Given the description of an element on the screen output the (x, y) to click on. 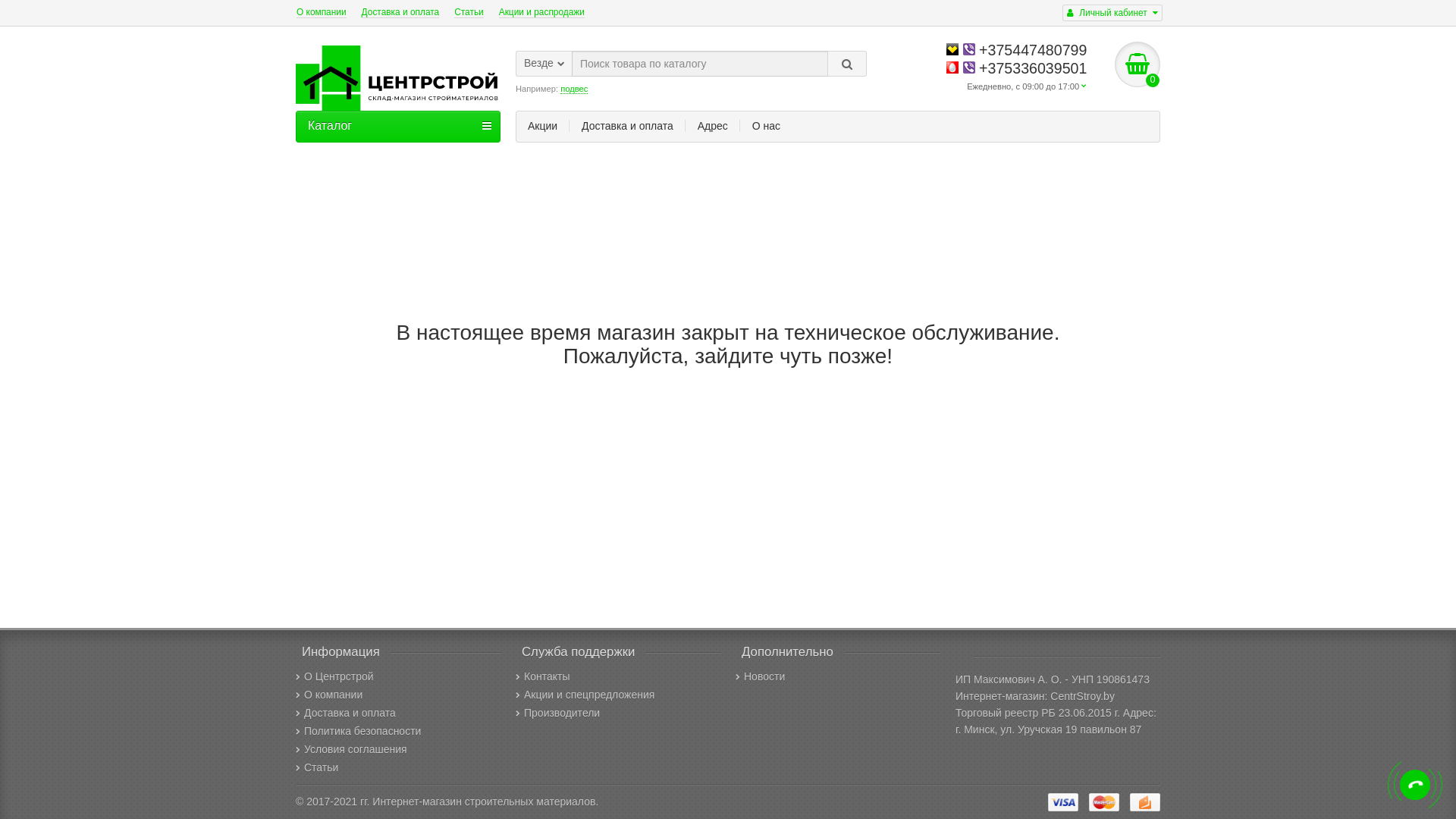
0 Element type: text (1137, 64)
  +375447480799 Element type: text (1016, 49)
  +375336039501 Element type: text (1016, 67)
